Given the description of an element on the screen output the (x, y) to click on. 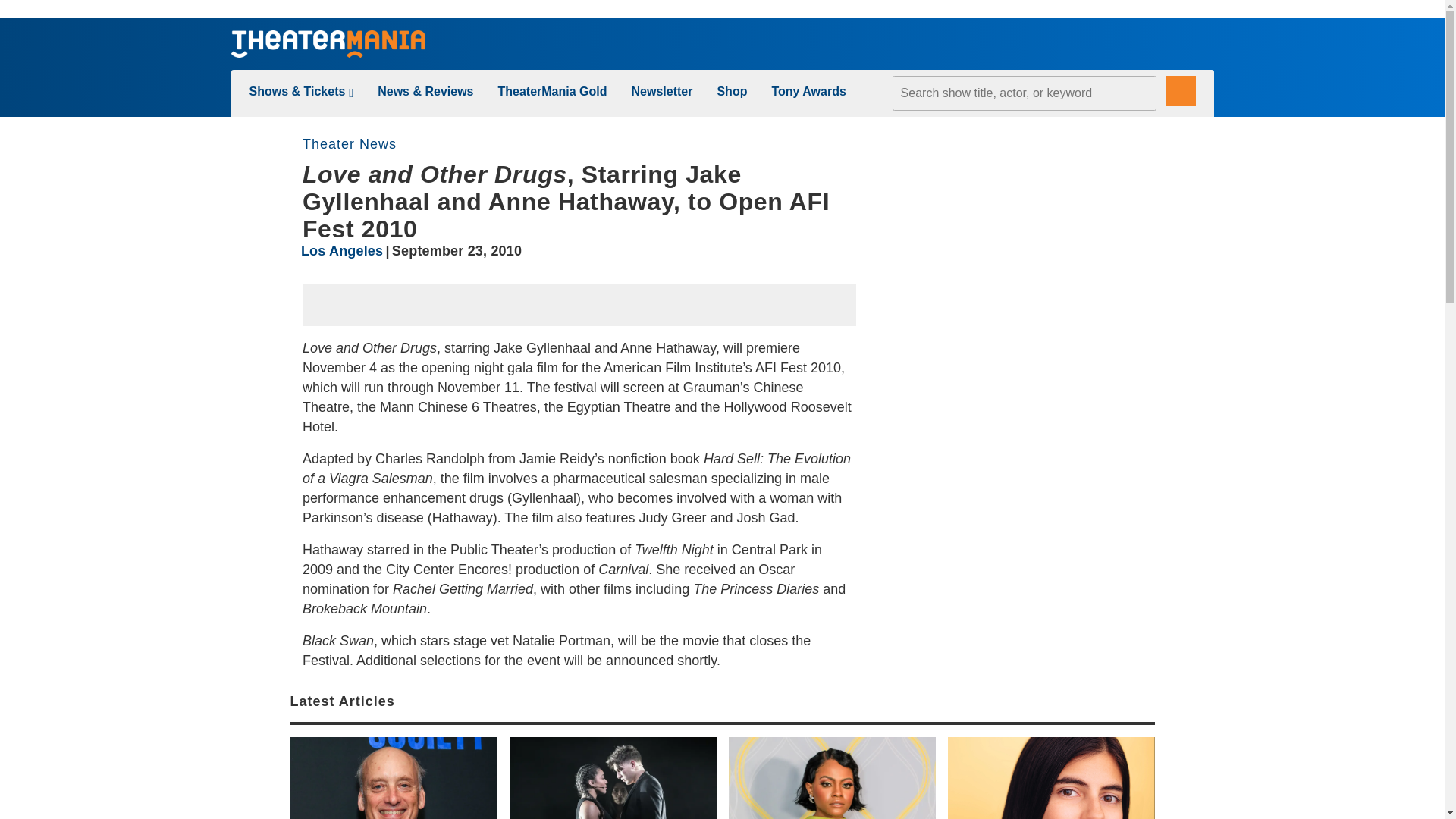
TheaterMania Gold (552, 91)
Newsletter (662, 91)
Shop (731, 91)
new-and-reviews-link (425, 91)
Tony Awards (808, 91)
